Given the description of an element on the screen output the (x, y) to click on. 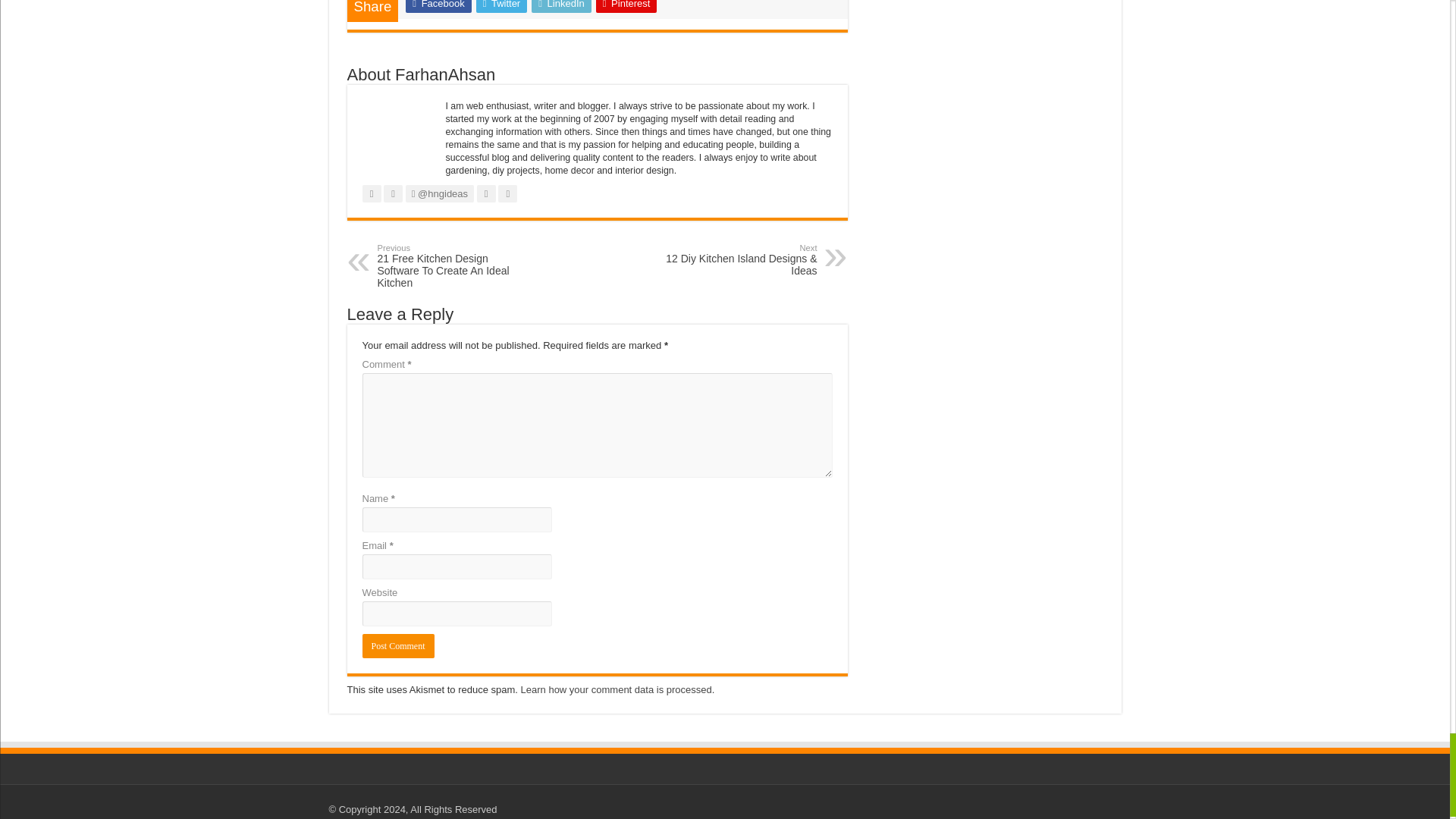
Post Comment (397, 645)
